Given the description of an element on the screen output the (x, y) to click on. 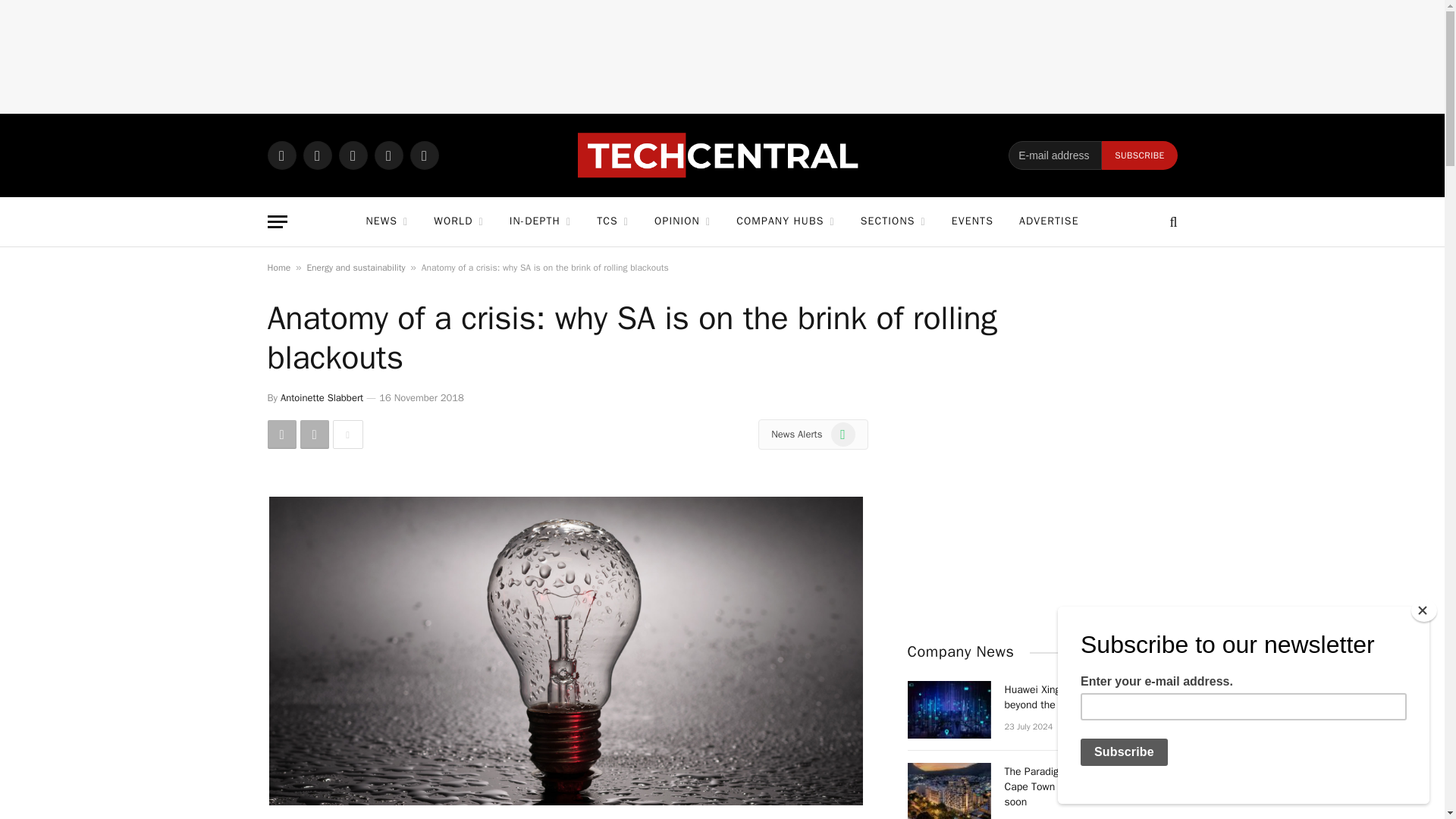
WhatsApp (280, 154)
IN-DEPTH (539, 221)
3rd party ad content (722, 56)
Subscribe (1139, 154)
NEWS (386, 221)
Facebook (316, 154)
WORLD (458, 221)
LinkedIn (388, 154)
Subscribe (1139, 154)
TechCentral (722, 155)
YouTube (423, 154)
